Given the description of an element on the screen output the (x, y) to click on. 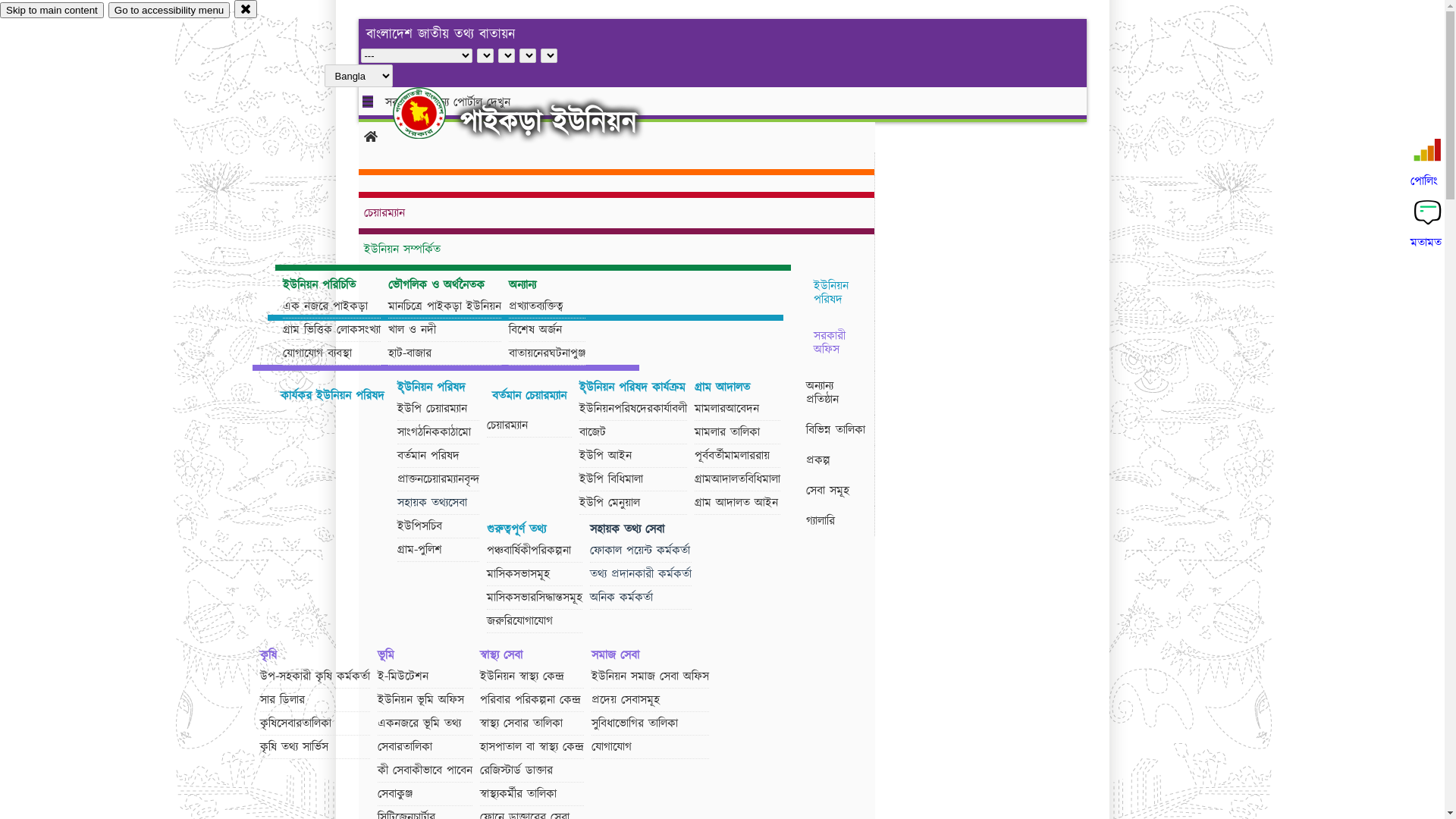
Skip to main content Element type: text (51, 10)
Go to accessibility menu Element type: text (168, 10)
close Element type: hover (245, 9)

                
             Element type: hover (431, 112)
